Given the description of an element on the screen output the (x, y) to click on. 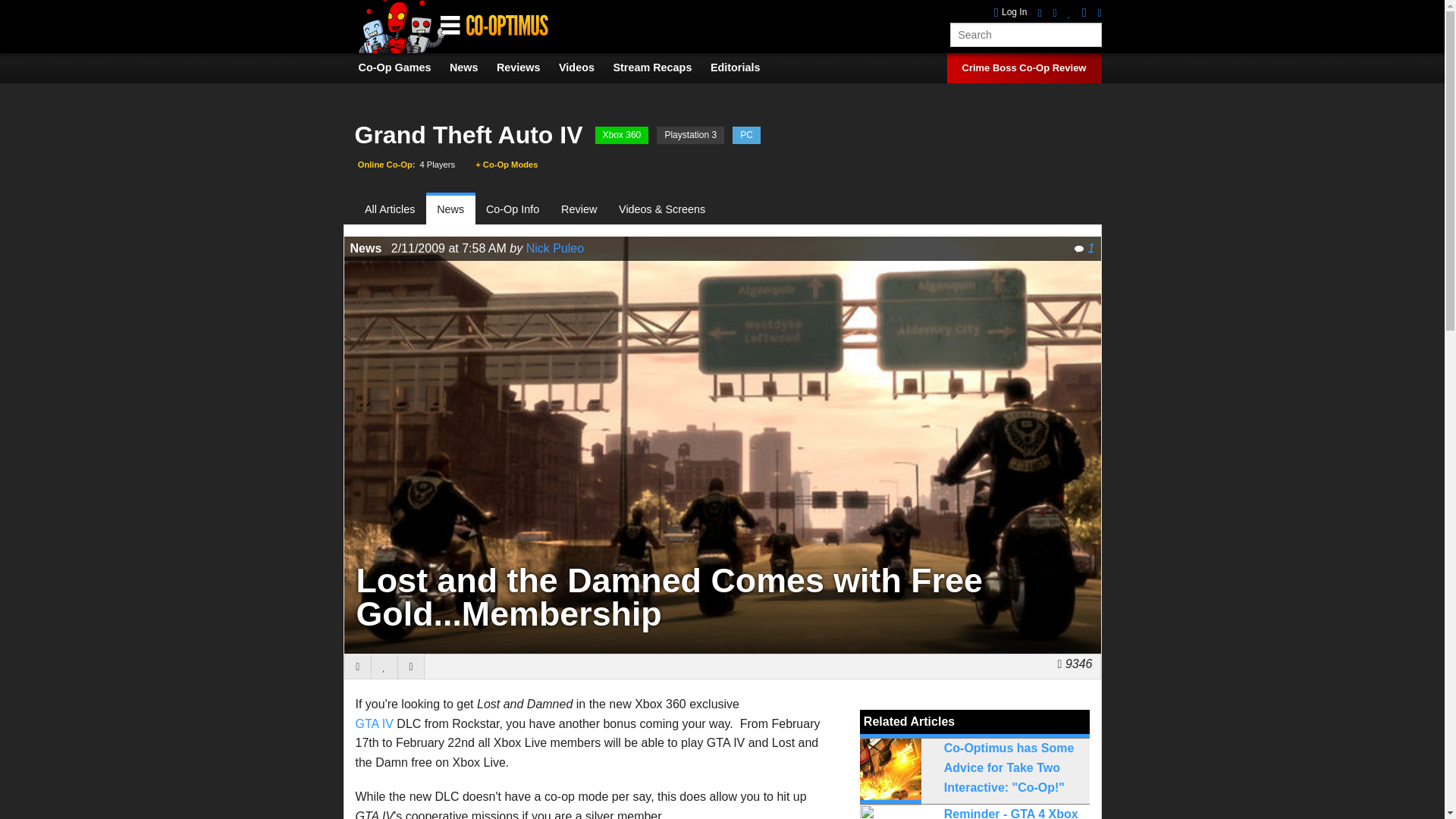
News (471, 67)
Playstation 3 (689, 135)
Editorials (743, 67)
News (451, 209)
 Log In (1010, 11)
Crime Boss Co-Op Review (1023, 67)
Stream Recaps (659, 67)
Reviews (526, 67)
Xbox 360 (622, 135)
All Articles (395, 209)
Review (579, 209)
login (1010, 11)
Co-Op Info (513, 209)
PC (746, 135)
Co-Op Games (401, 67)
